Given the description of an element on the screen output the (x, y) to click on. 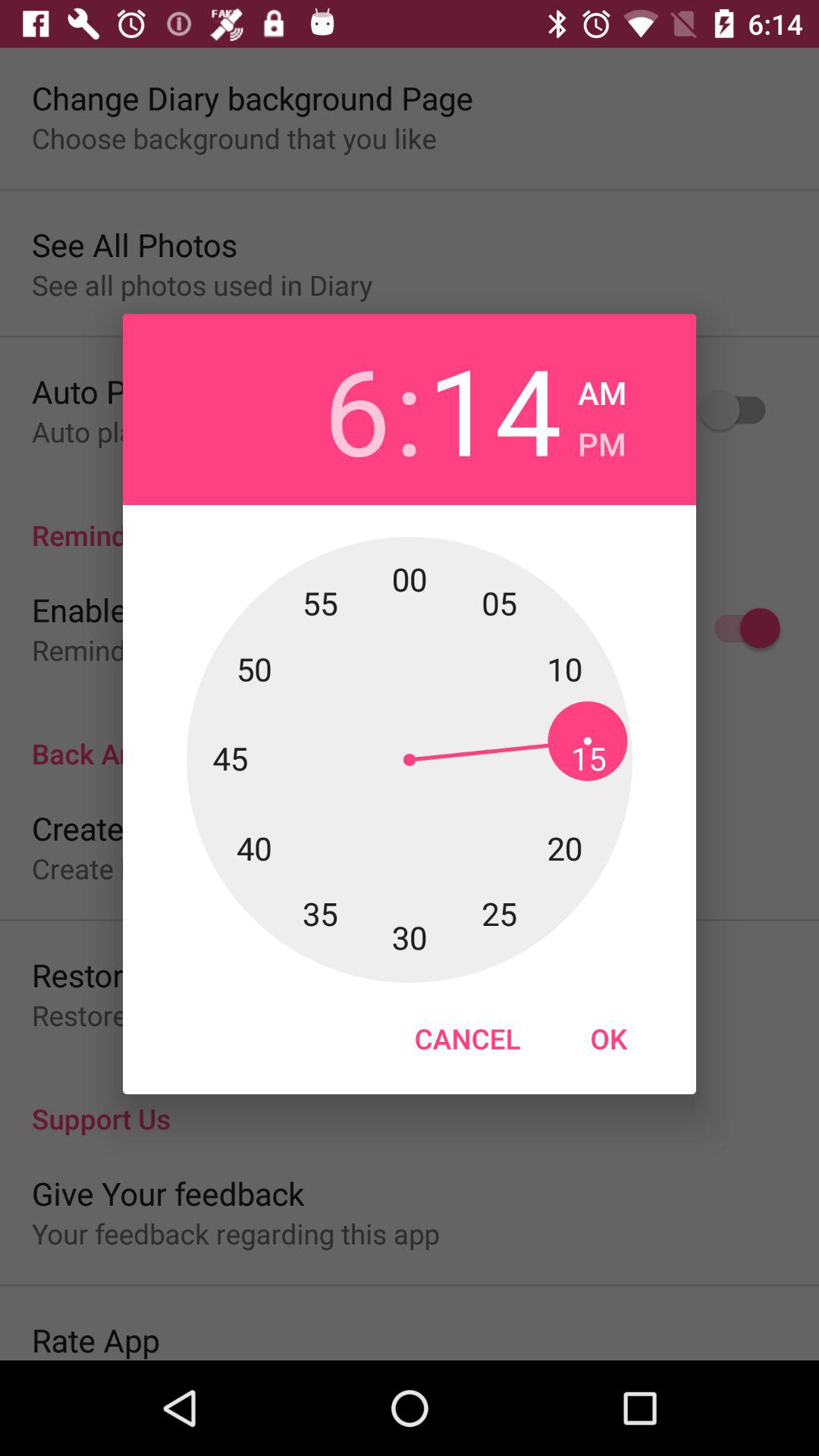
select the item at the bottom right corner (608, 1038)
